Given the description of an element on the screen output the (x, y) to click on. 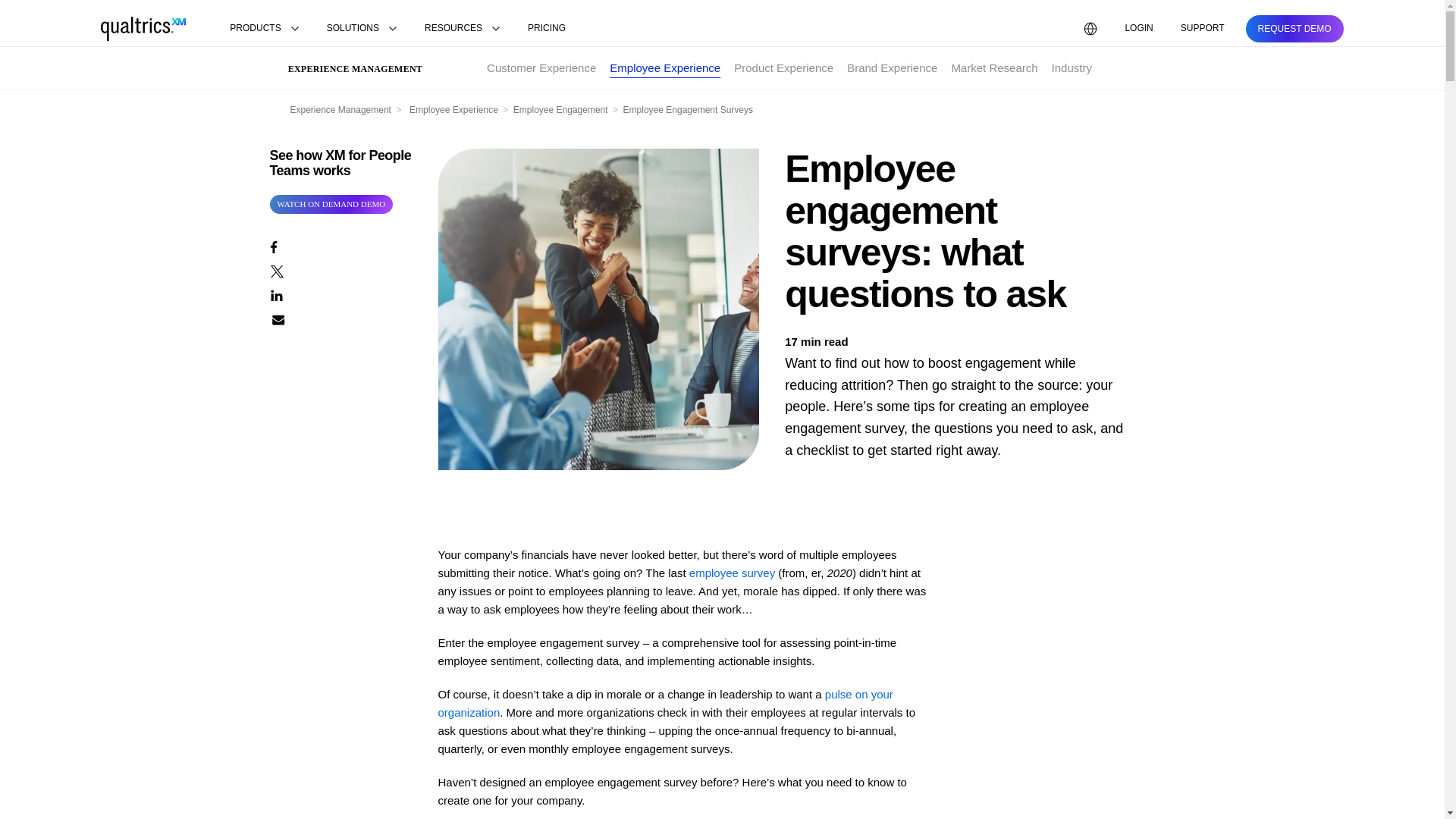
PRODUCTS (264, 28)
PRICING (546, 28)
Share on X (340, 270)
Share on LinkedIn (340, 294)
RESOURCES (462, 28)
Skip to main content (51, 9)
X Logo (276, 271)
SOLUTIONS (361, 28)
Share via Email (340, 318)
Share on Facebook (340, 245)
